Given the description of an element on the screen output the (x, y) to click on. 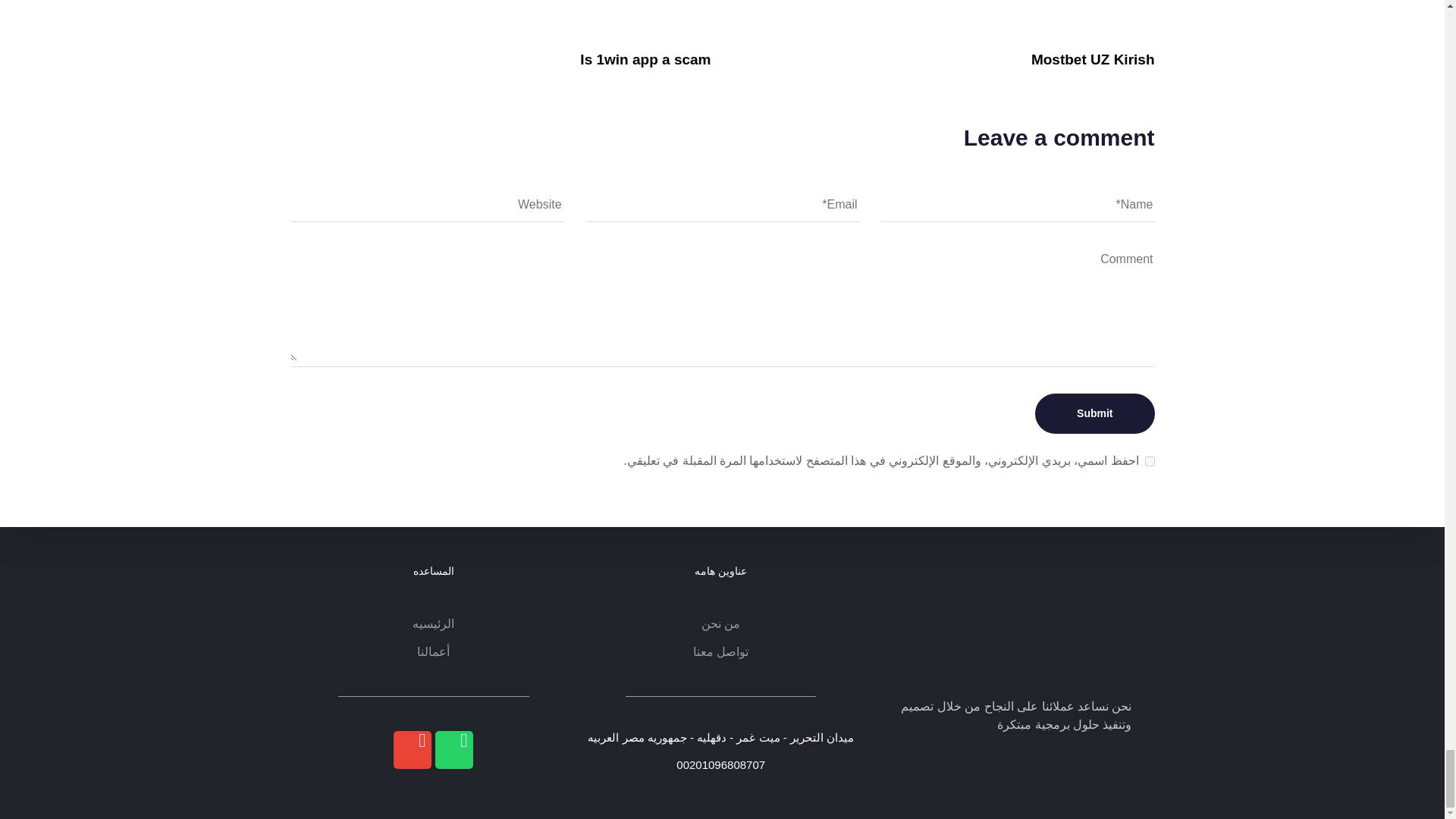
Is 1win app a scam (644, 59)
Submit (1094, 413)
yes (1149, 461)
Submit (1094, 413)
Mostbet UZ Kirish (1092, 59)
